Given the description of an element on the screen output the (x, y) to click on. 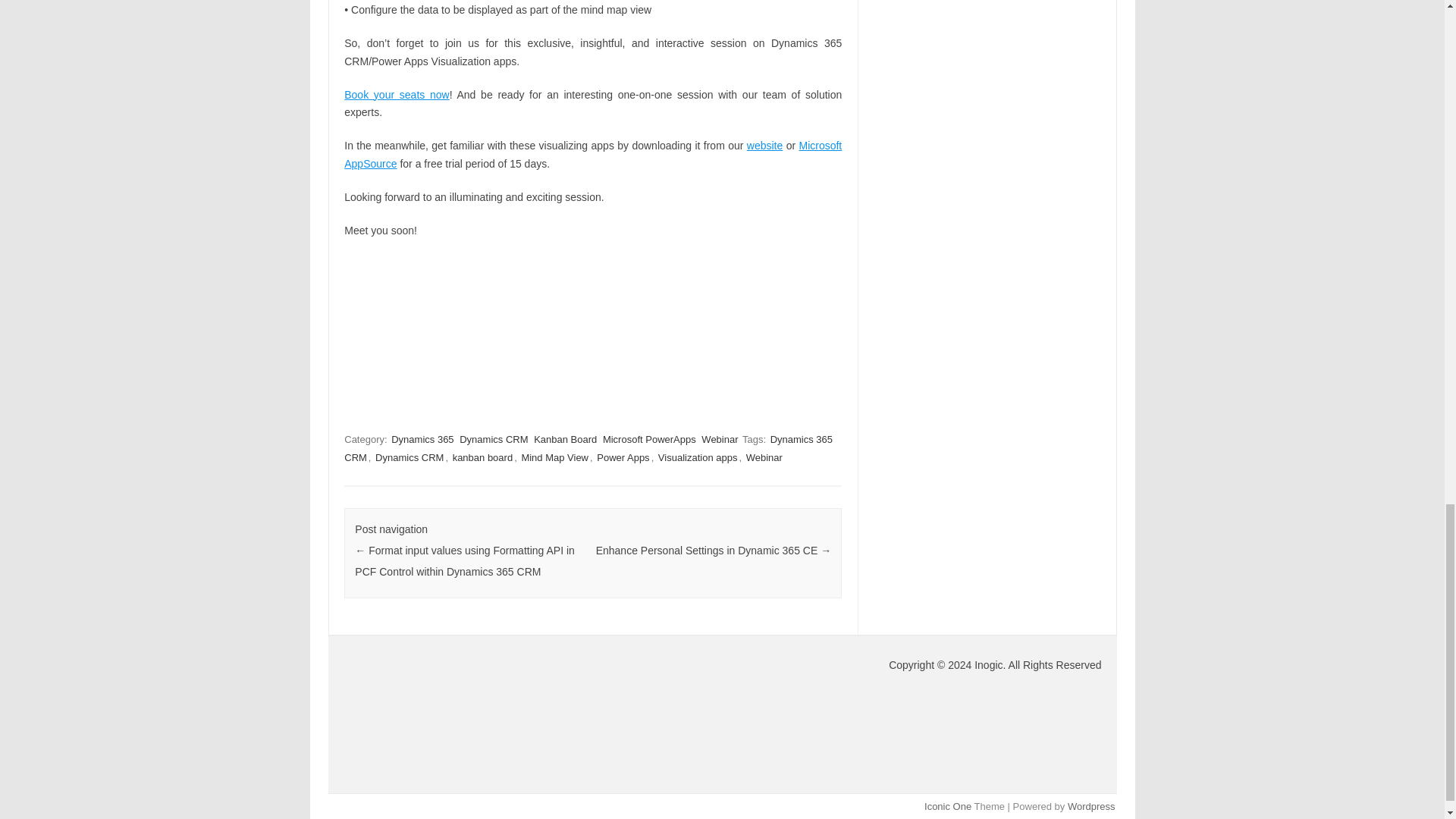
SiteLock (461, 711)
